Given the description of an element on the screen output the (x, y) to click on. 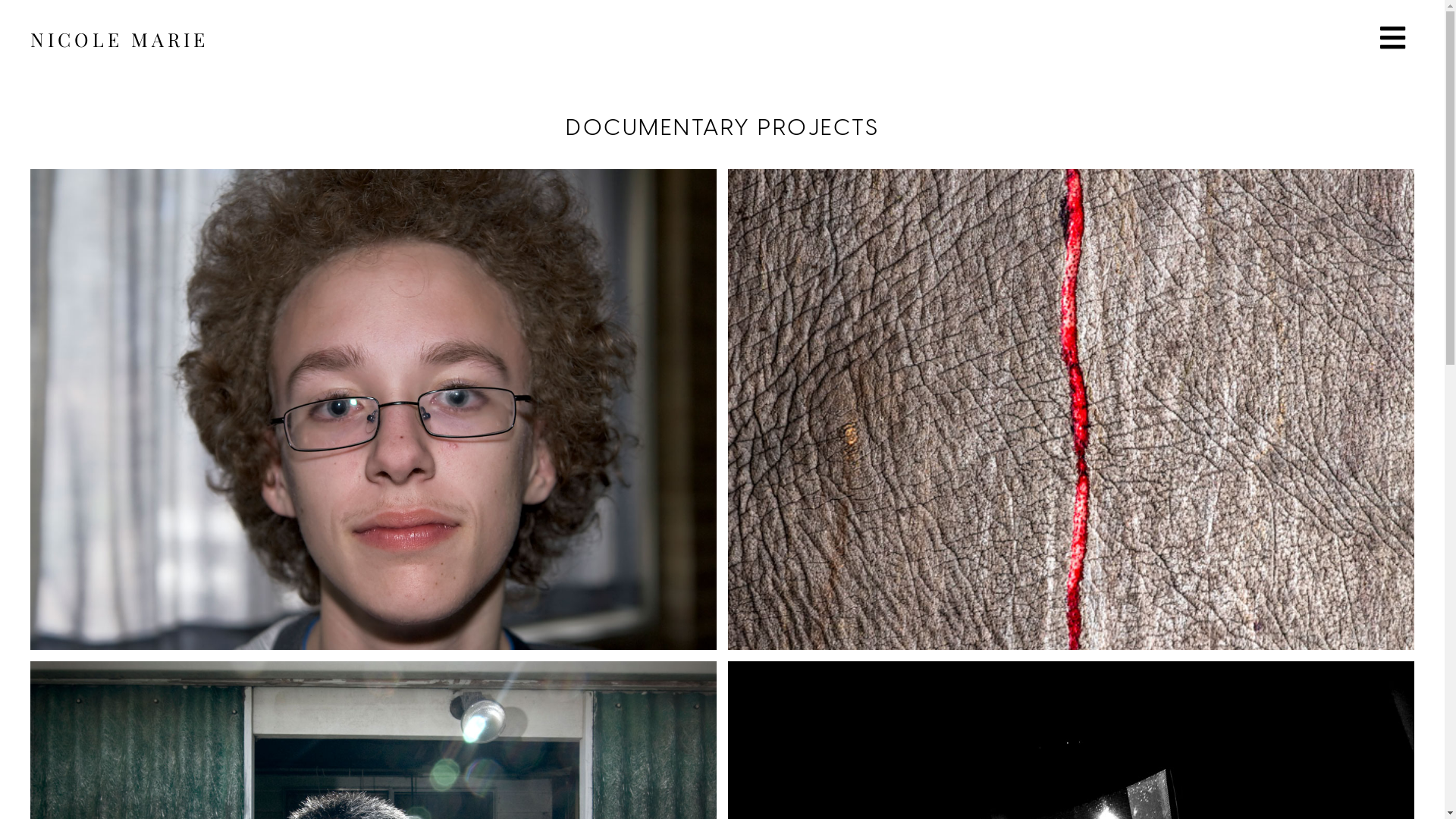
NICOLE MARIE Element type: text (119, 38)
